Given the description of an element on the screen output the (x, y) to click on. 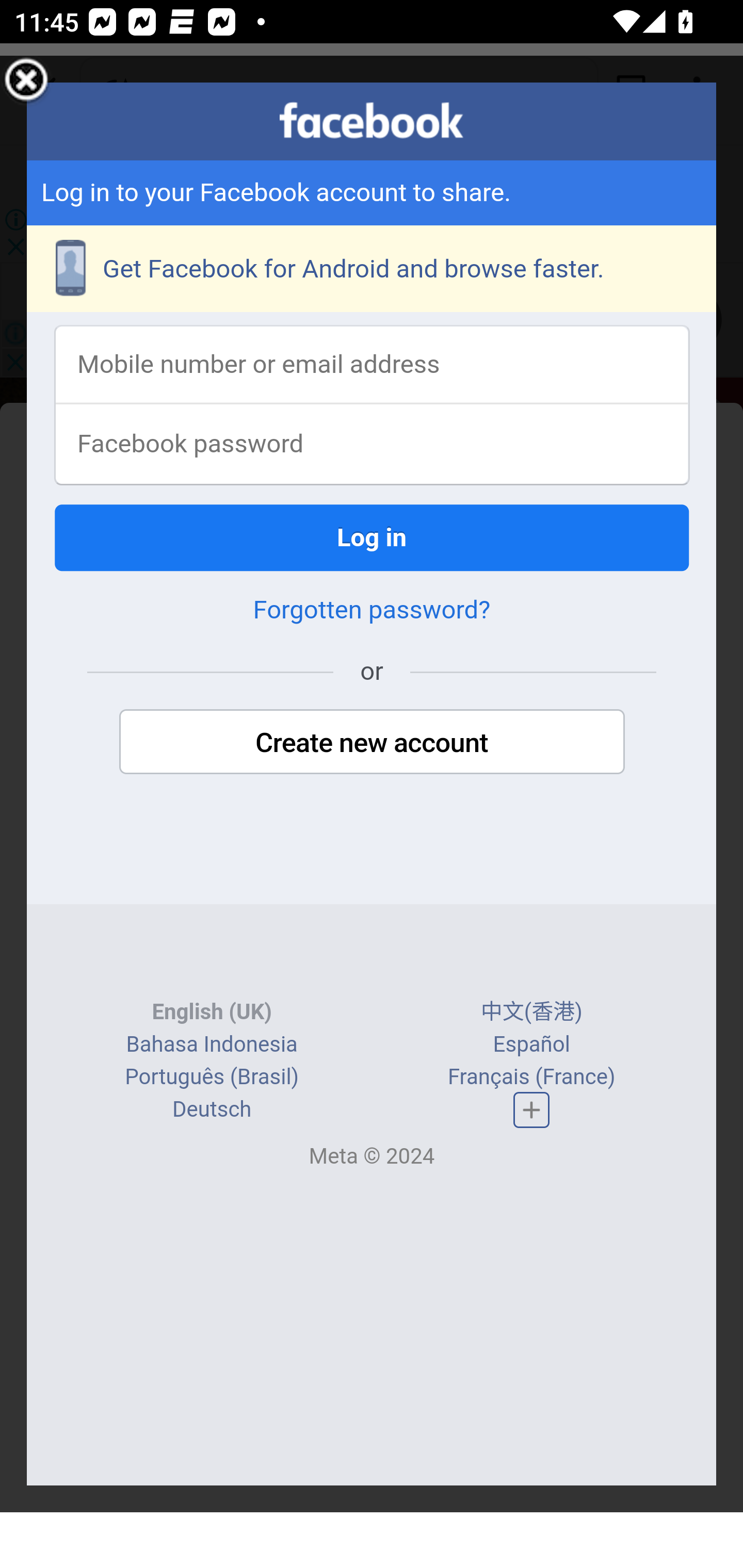
facebook (372, 121)
Get Facebook for Android and browse faster. (372, 270)
Log in (372, 538)
Forgotten password? (371, 611)
Create new account (371, 743)
中文(香港) (531, 1013)
Bahasa Indonesia (210, 1044)
Español (530, 1044)
Português (Brasil) (211, 1077)
Français (France) (530, 1077)
Complete list of languages (531, 1110)
Deutsch (211, 1110)
